Given the description of an element on the screen output the (x, y) to click on. 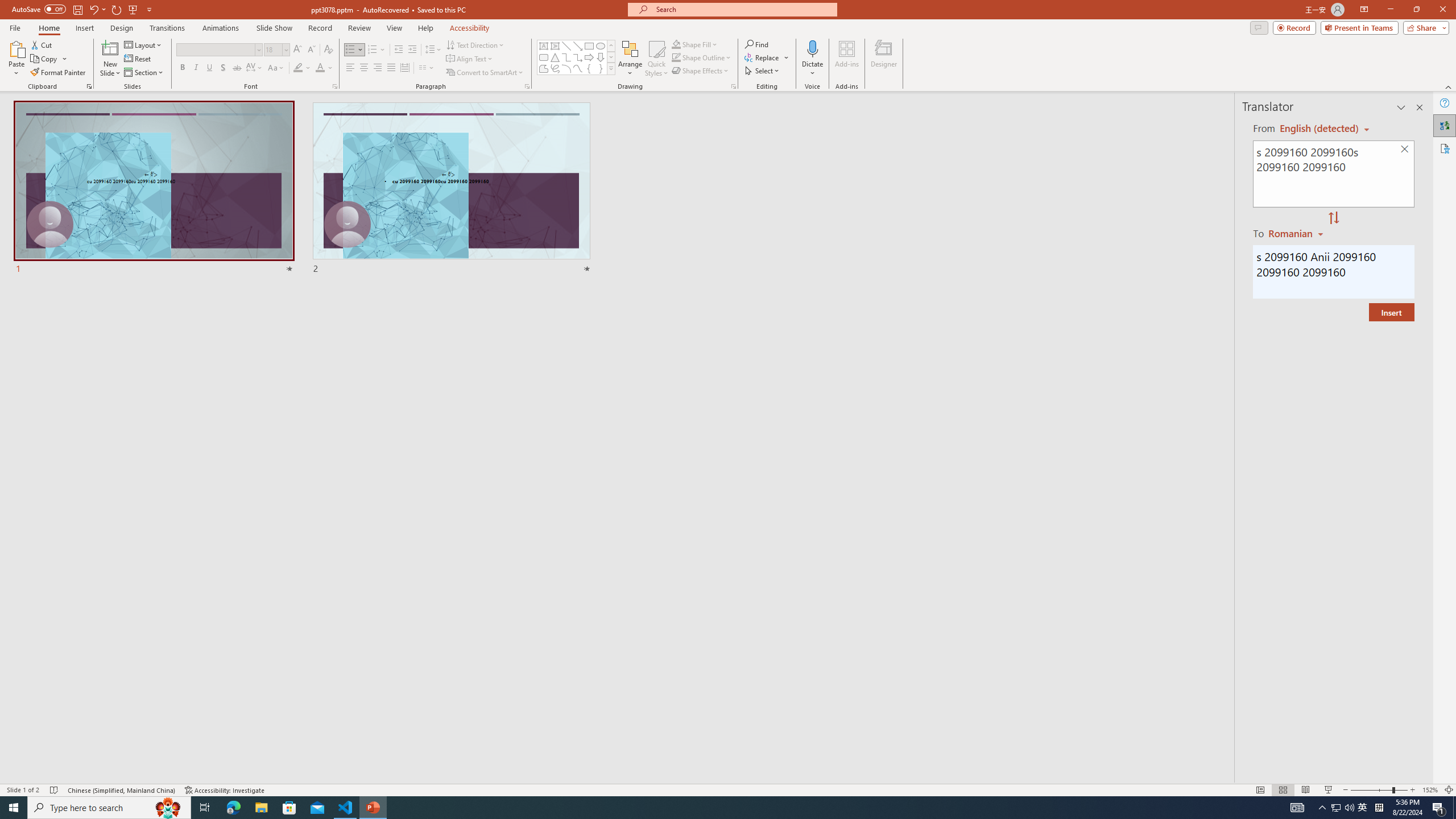
Zoom 152% (1430, 790)
